Given the description of an element on the screen output the (x, y) to click on. 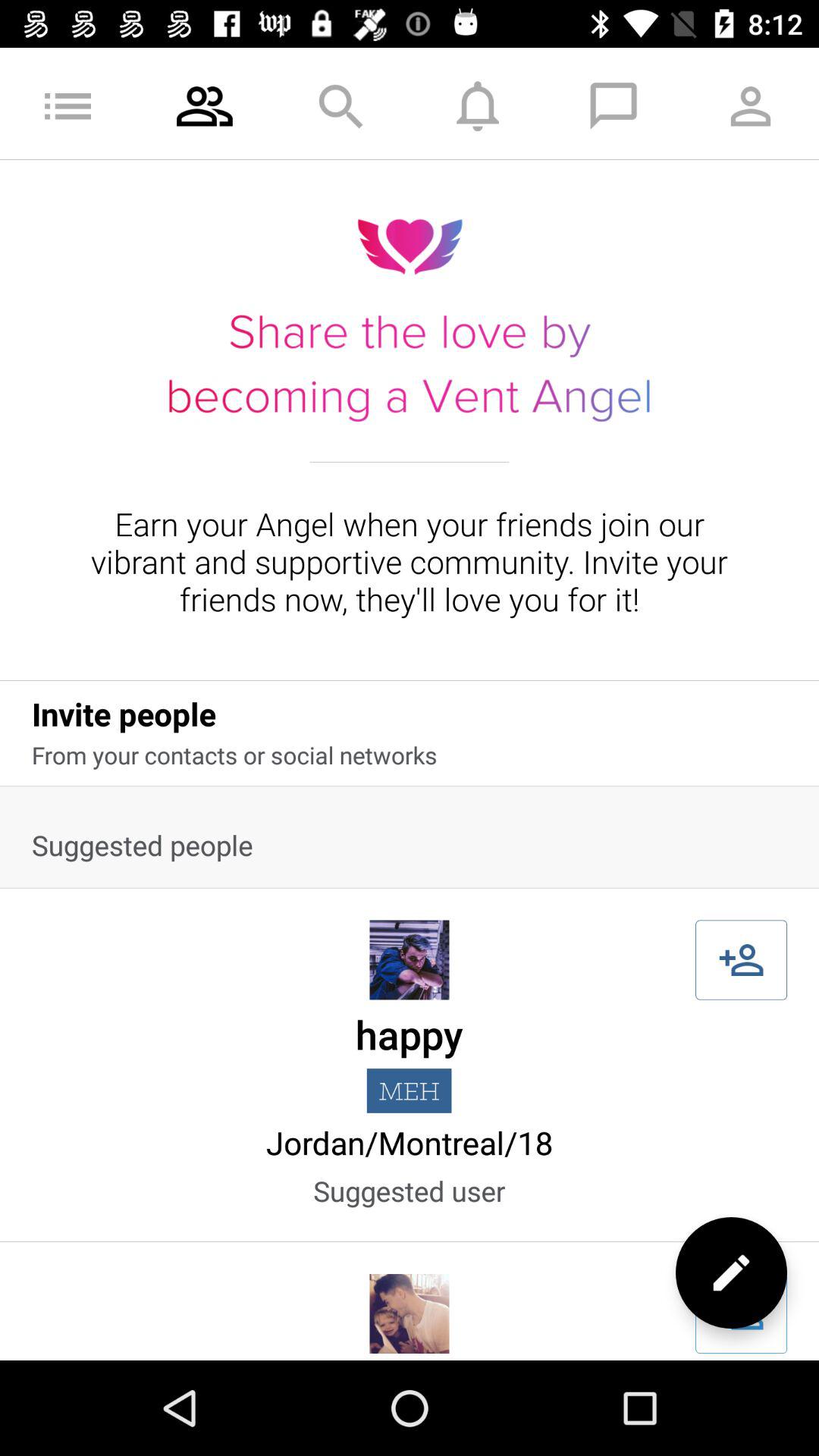
add user (741, 959)
